Given the description of an element on the screen output the (x, y) to click on. 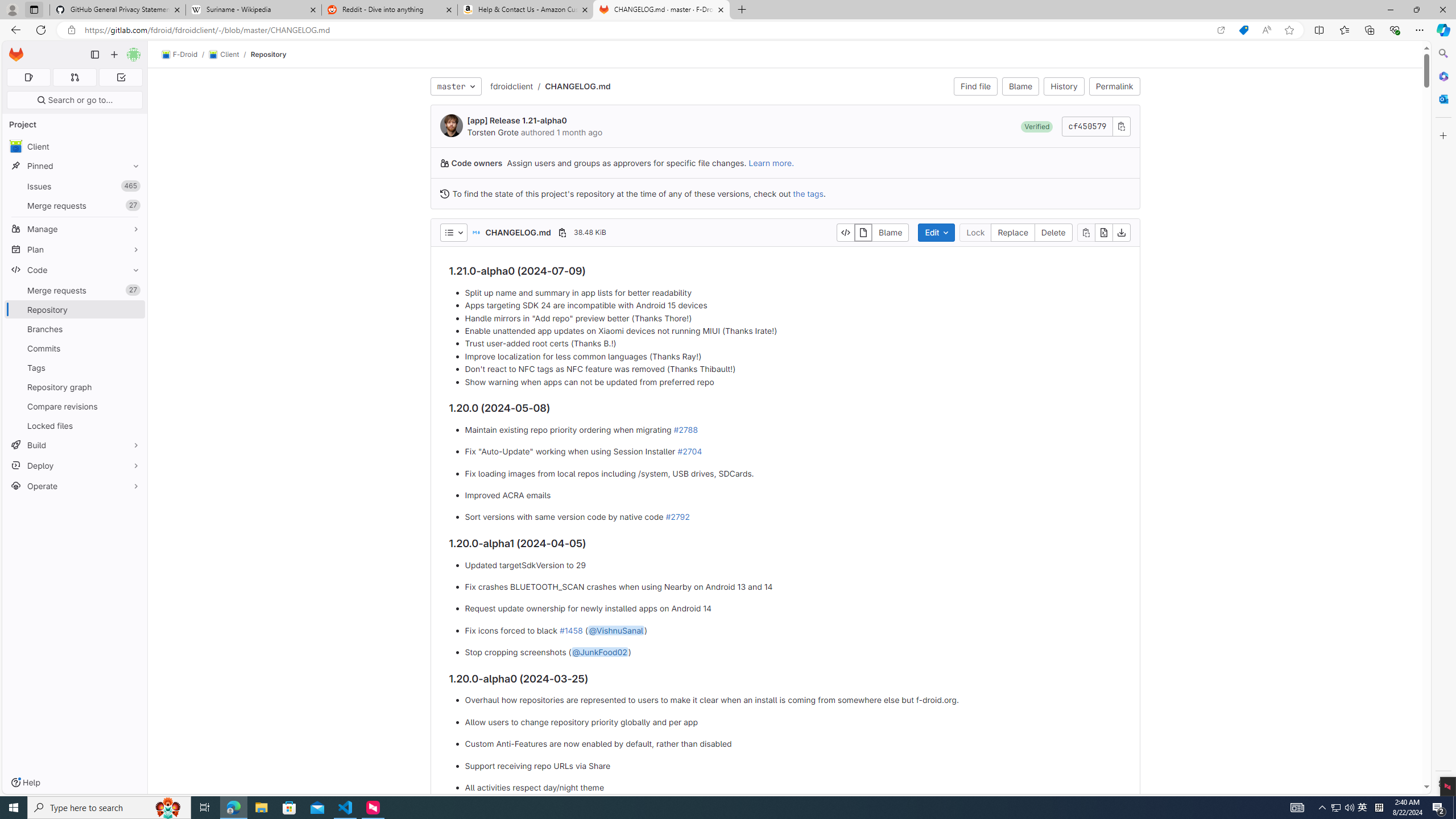
Commits (74, 348)
#2704 (689, 451)
Class: s16 gl-icon gl-button-icon  (1120, 126)
Trust user-added root certs (Thanks B.!) (792, 343)
Tags (74, 367)
Replace (1012, 232)
All activities respect day/night theme (792, 787)
Client (223, 54)
#2792 (677, 516)
